Given the description of an element on the screen output the (x, y) to click on. 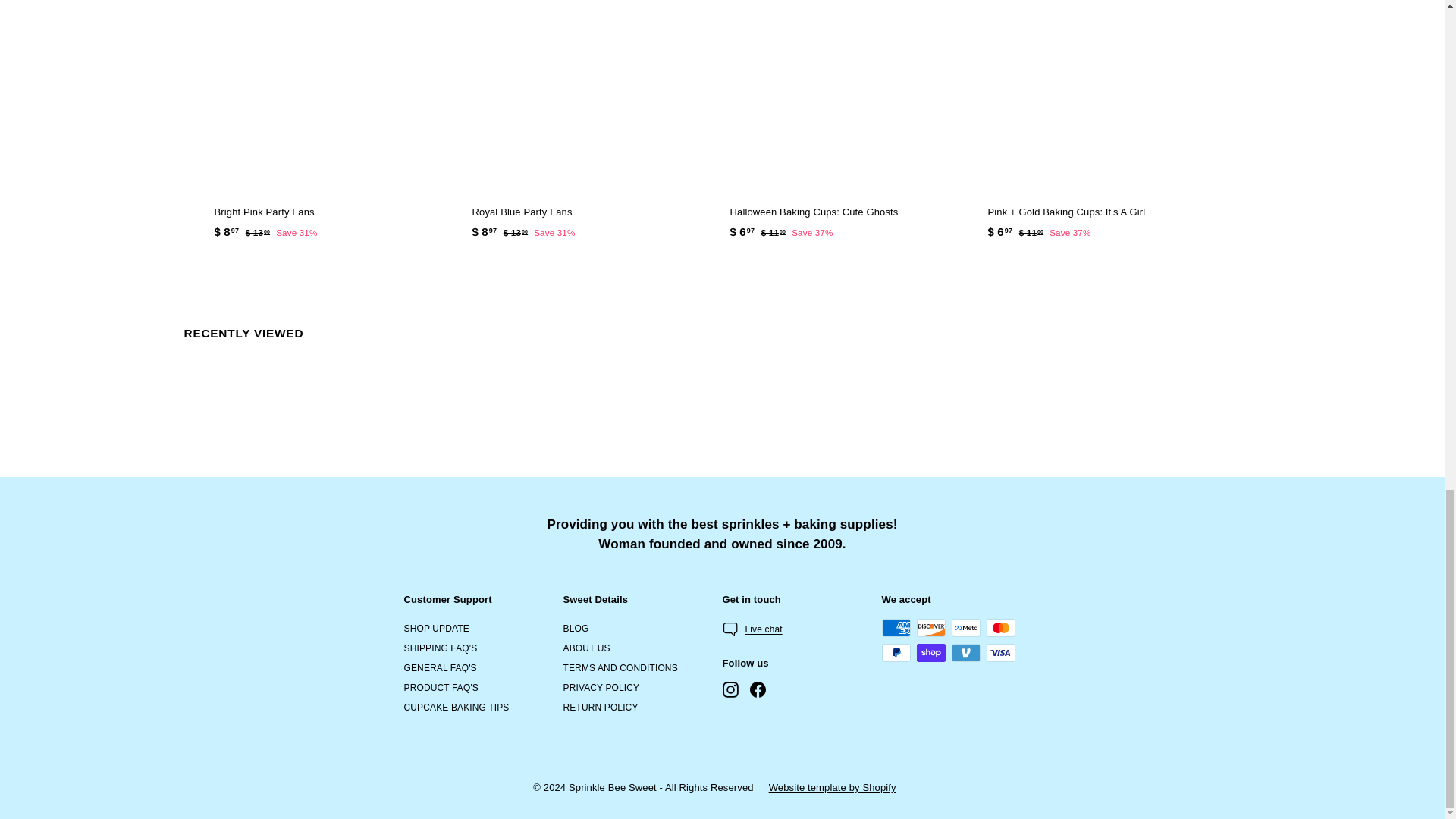
PayPal (895, 652)
Venmo (964, 652)
American Express (895, 628)
Mastercard (999, 628)
Sprinkle Bee Sweet on Instagram (730, 689)
Sprinkle Bee Sweet on Facebook (757, 689)
Discover (929, 628)
Meta Pay (964, 628)
Shop Pay (929, 652)
